Given the description of an element on the screen output the (x, y) to click on. 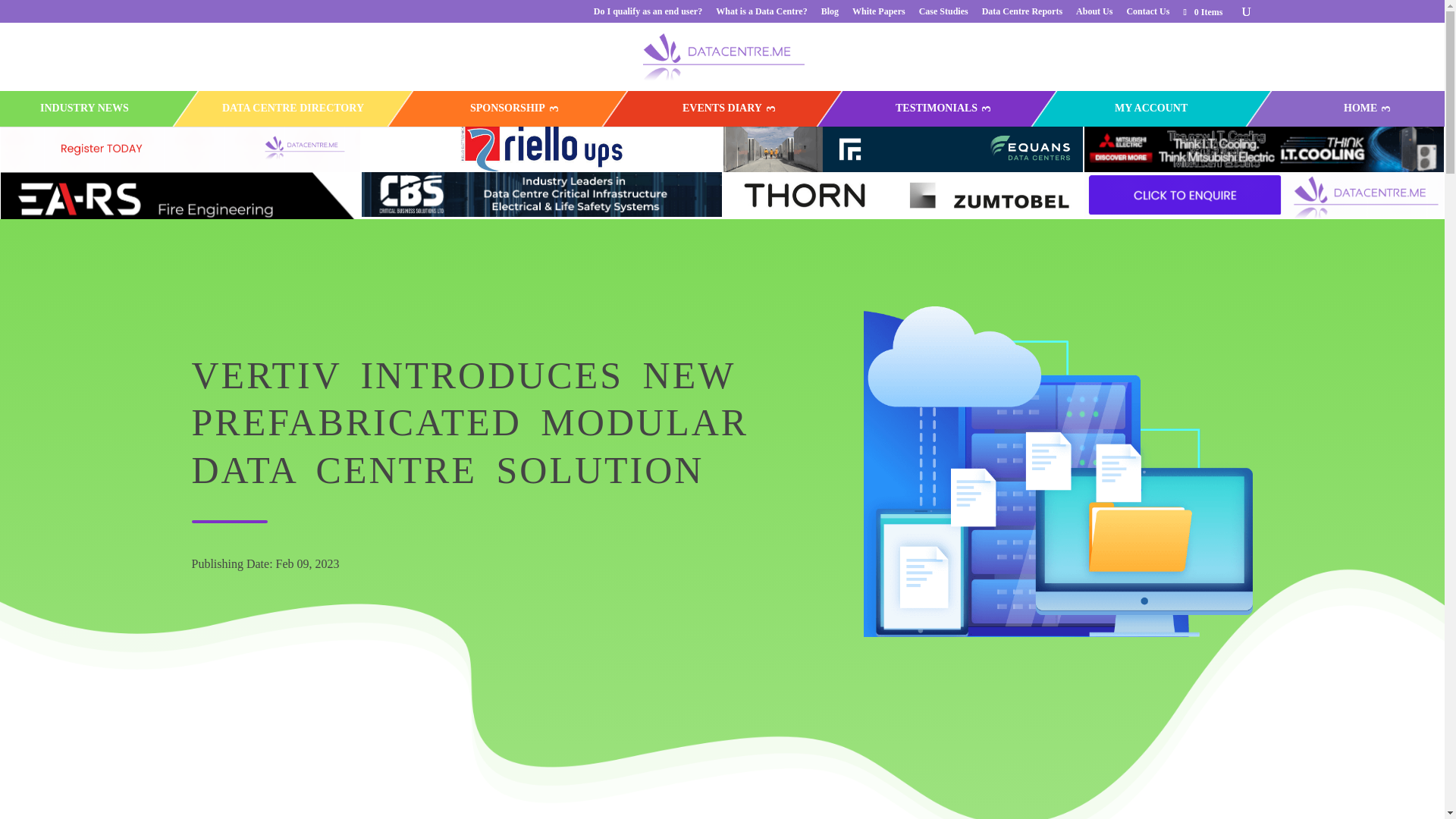
Blog (829, 14)
0 Items (1201, 11)
Contact Us (1147, 14)
SPONSORSHIP (507, 108)
Case Studies (943, 14)
What is a Data Centre? (761, 14)
White Papers (878, 14)
Do I qualify as an end user? (647, 14)
DATA CENTRE DIRECTORY (292, 108)
EVENTS DIARY (721, 108)
